Given the description of an element on the screen output the (x, y) to click on. 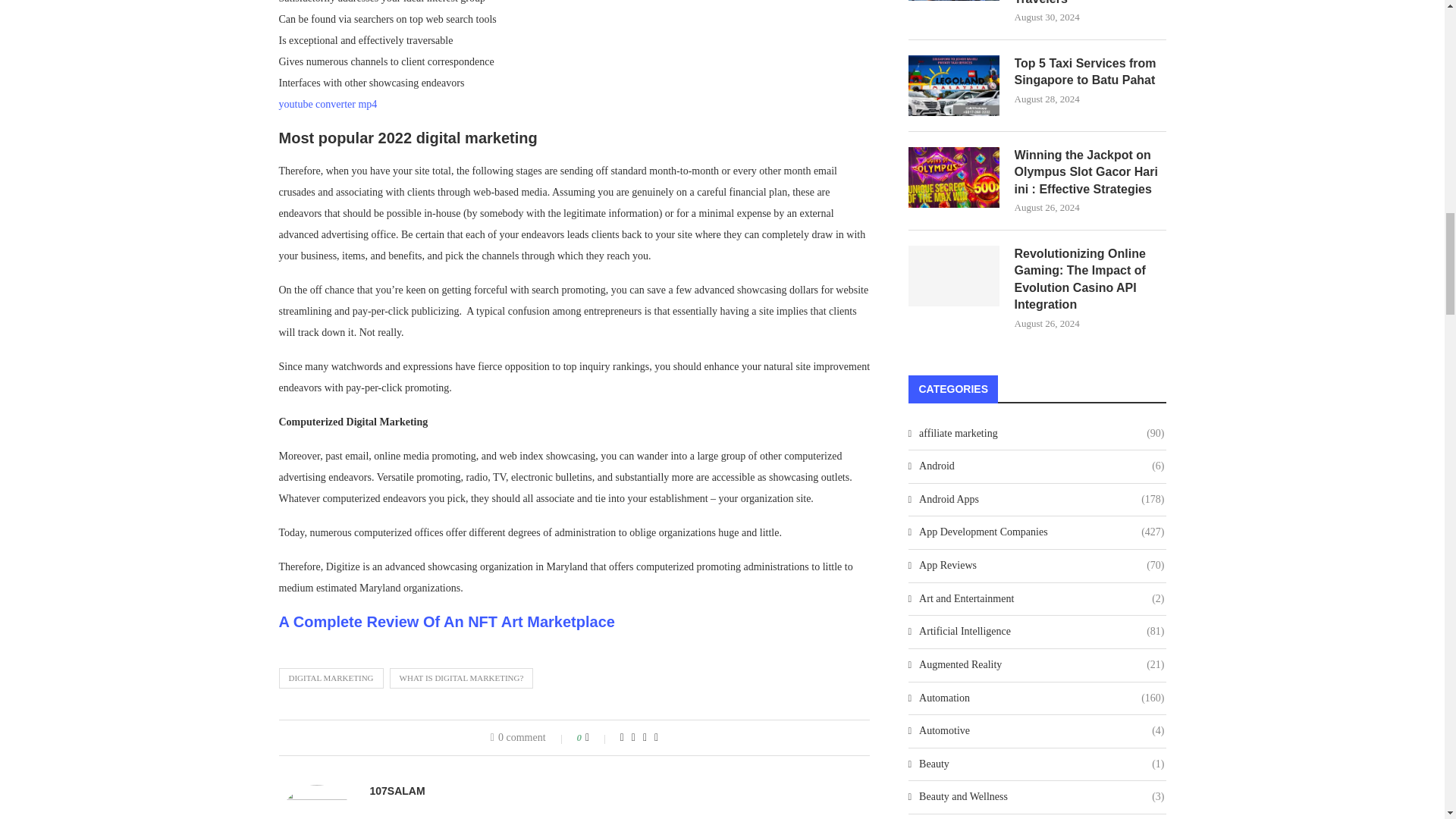
Author 107salam (397, 790)
A Complete Review Of An NFT Art Marketplace (446, 621)
A Complete Review Of An NFT Art Marketplace (446, 621)
DIGITAL MARKETING (331, 677)
youtube converter mp4 (328, 103)
Like (597, 737)
WHAT IS DIGITAL MARKETING? (462, 677)
107SALAM (397, 790)
